Given the description of an element on the screen output the (x, y) to click on. 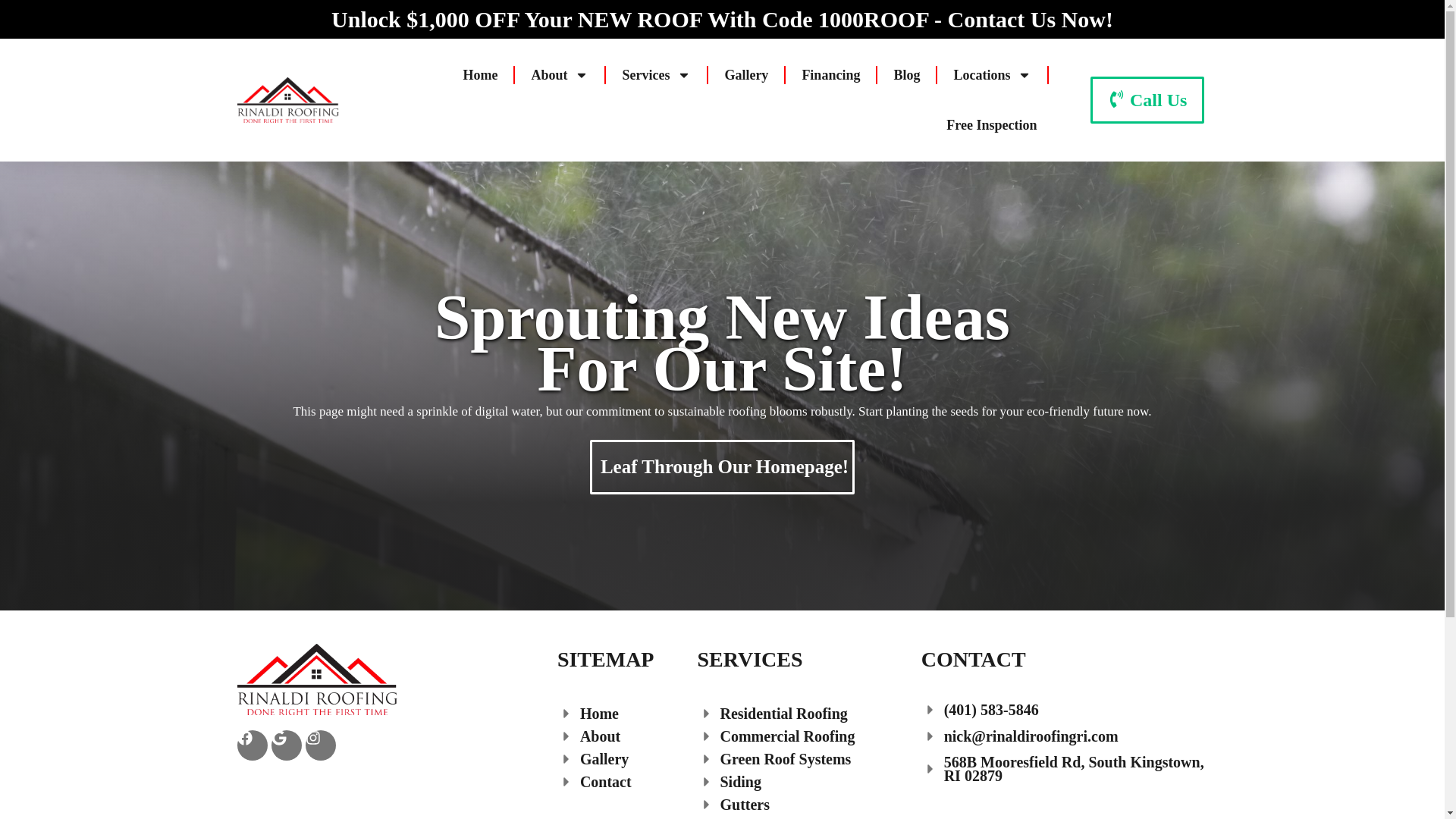
Financing (830, 74)
About (558, 74)
Services (656, 74)
Blog (905, 74)
Gallery (745, 74)
Home (479, 74)
Locations (991, 74)
